Given the description of an element on the screen output the (x, y) to click on. 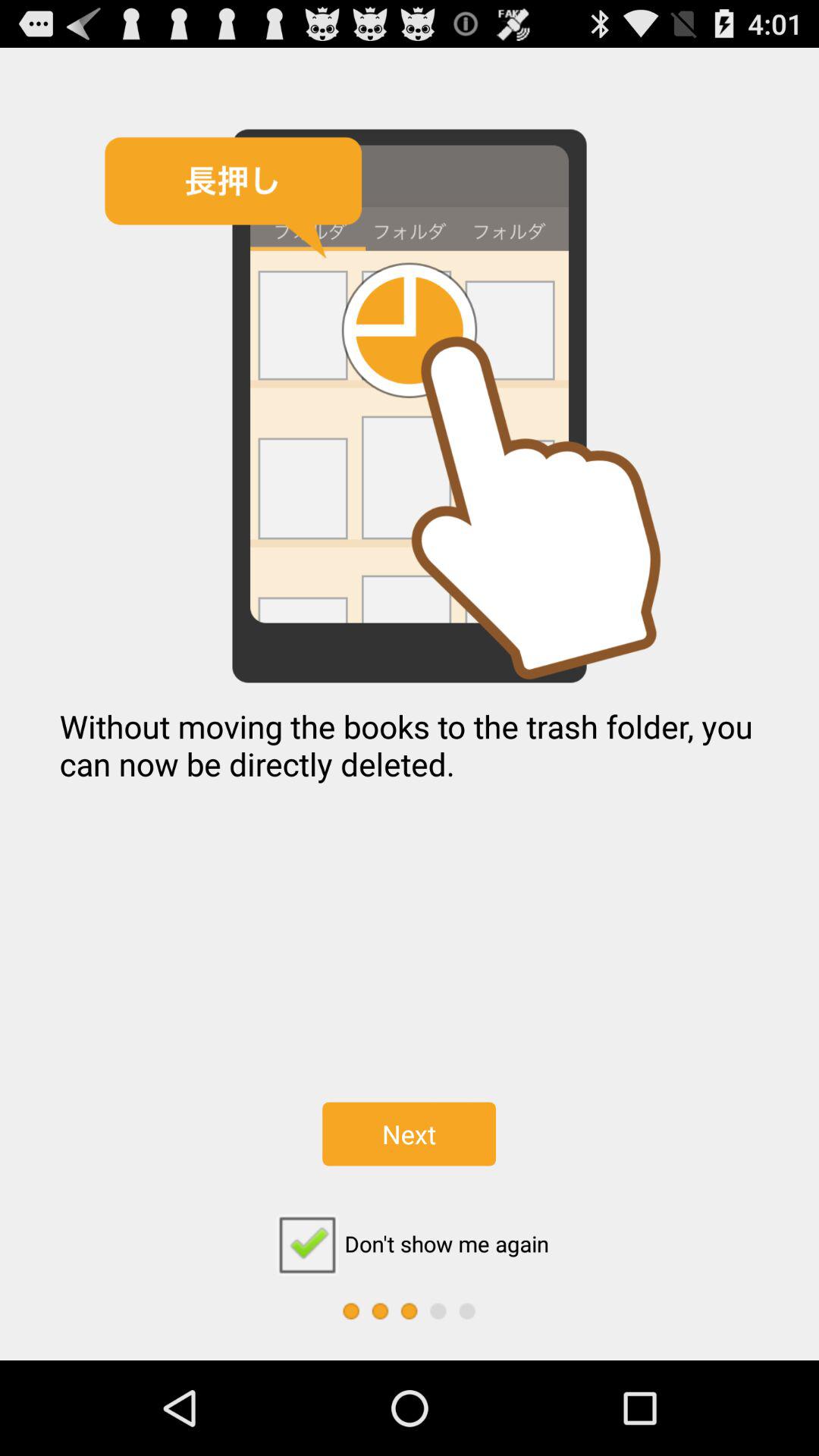
turn off checkbox above the don t show checkbox (408, 1133)
